Given the description of an element on the screen output the (x, y) to click on. 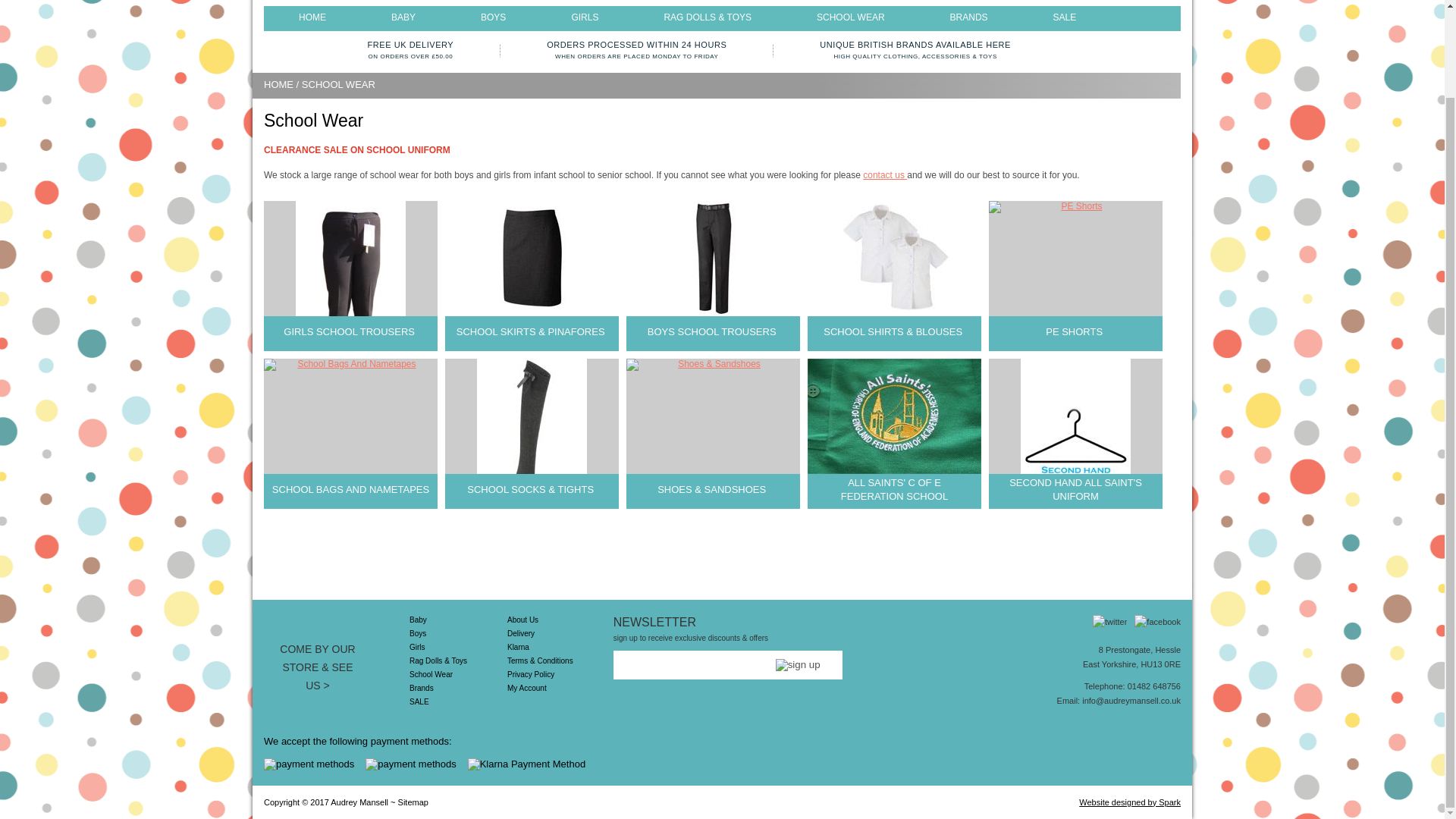
HOME (312, 17)
BOYS (492, 17)
BABY (402, 17)
sign up (798, 664)
